Given the description of an element on the screen output the (x, y) to click on. 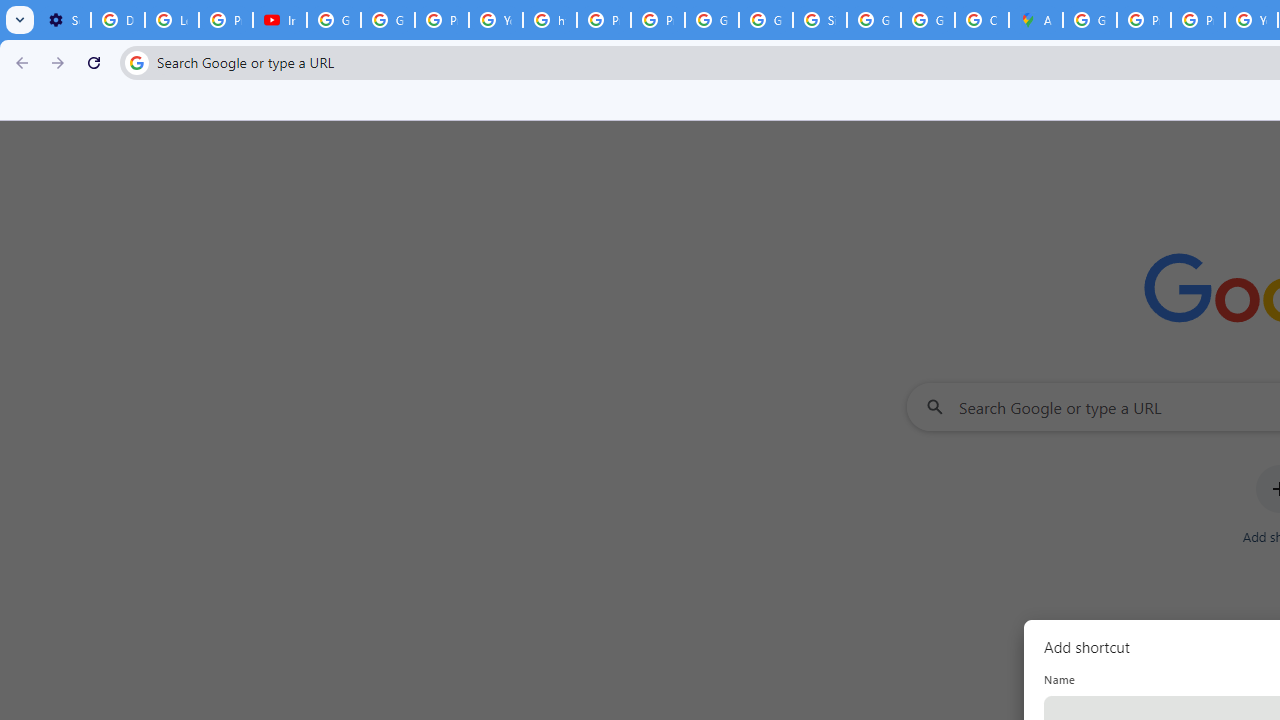
Learn how to find your photos - Google Photos Help (171, 20)
https://scholar.google.com/ (550, 20)
Privacy Help Center - Policies Help (604, 20)
Introduction | Google Privacy Policy - YouTube (280, 20)
Sign in - Google Accounts (819, 20)
Settings - Performance (63, 20)
Privacy Help Center - Policies Help (1197, 20)
Delete photos & videos - Computer - Google Photos Help (117, 20)
